Given the description of an element on the screen output the (x, y) to click on. 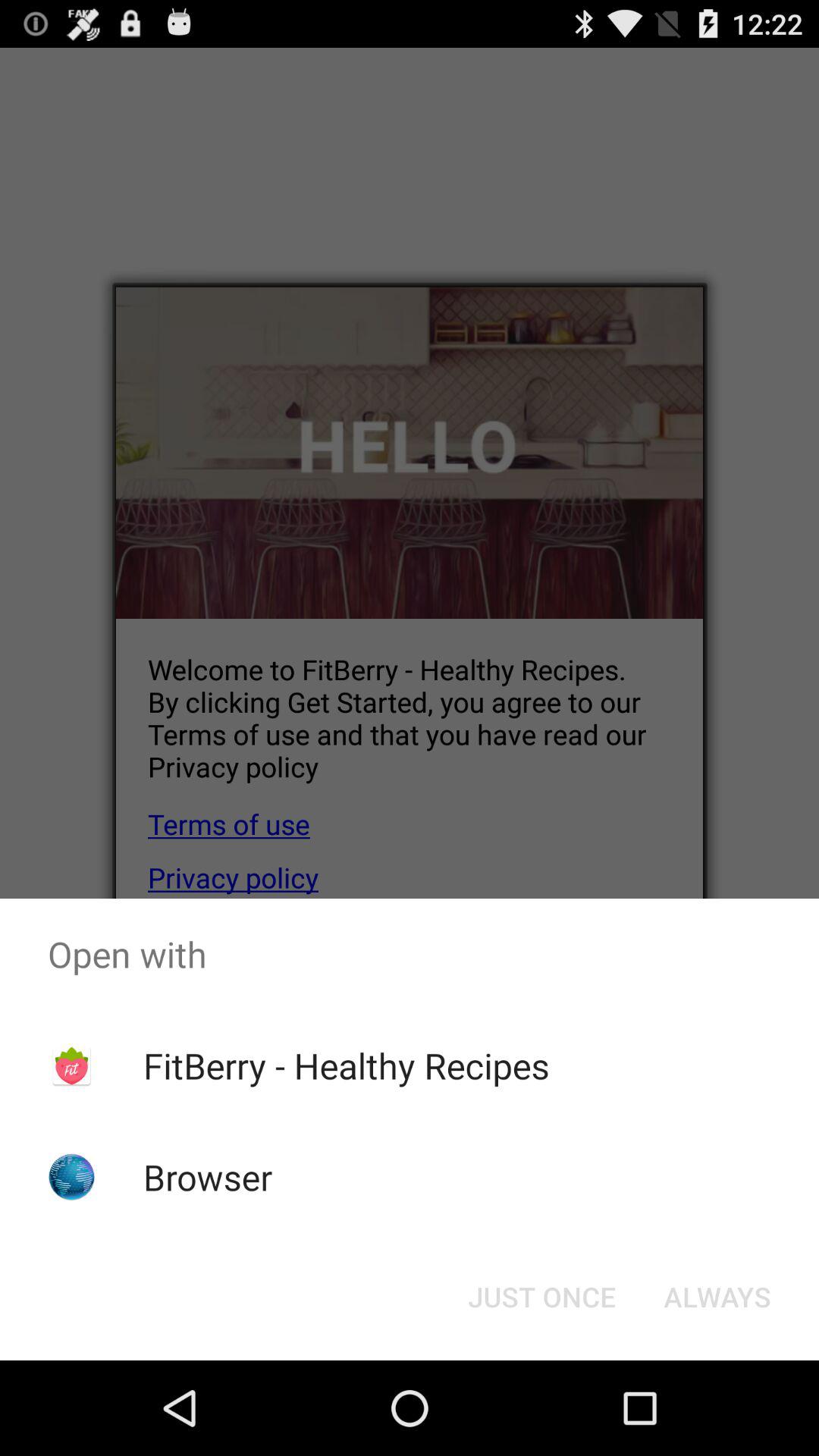
choose item below fitberry - healthy recipes icon (541, 1296)
